Given the description of an element on the screen output the (x, y) to click on. 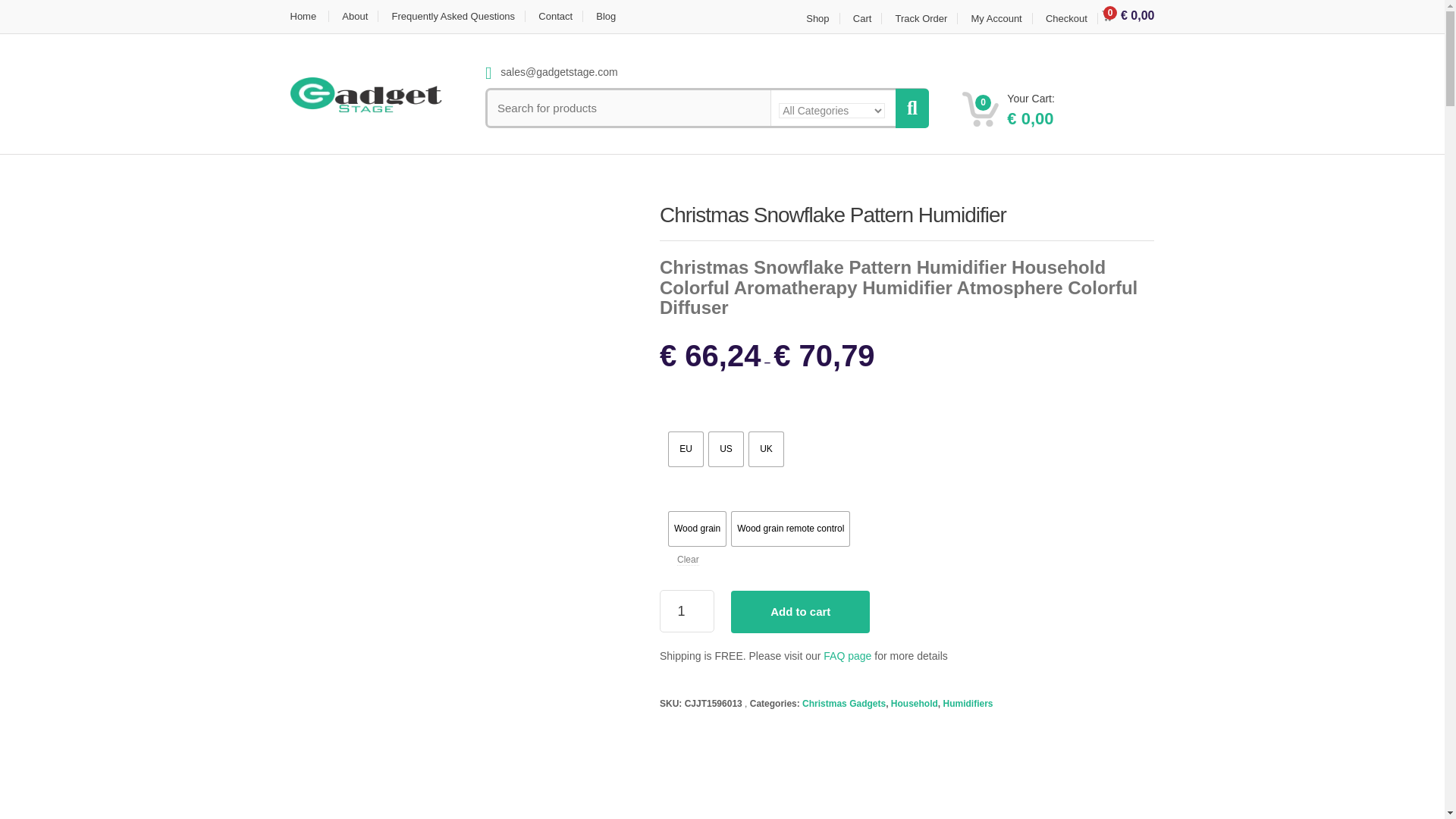
About (354, 16)
My Account (996, 18)
Checkout (1066, 18)
Track Order (921, 18)
Blog (606, 16)
Shop (818, 18)
Track Order (921, 18)
Cart (862, 18)
Blog (606, 16)
1 (686, 610)
Home (309, 16)
Checkout (1066, 18)
Cart (862, 18)
Add to cart (799, 611)
Clear (687, 559)
